Given the description of an element on the screen output the (x, y) to click on. 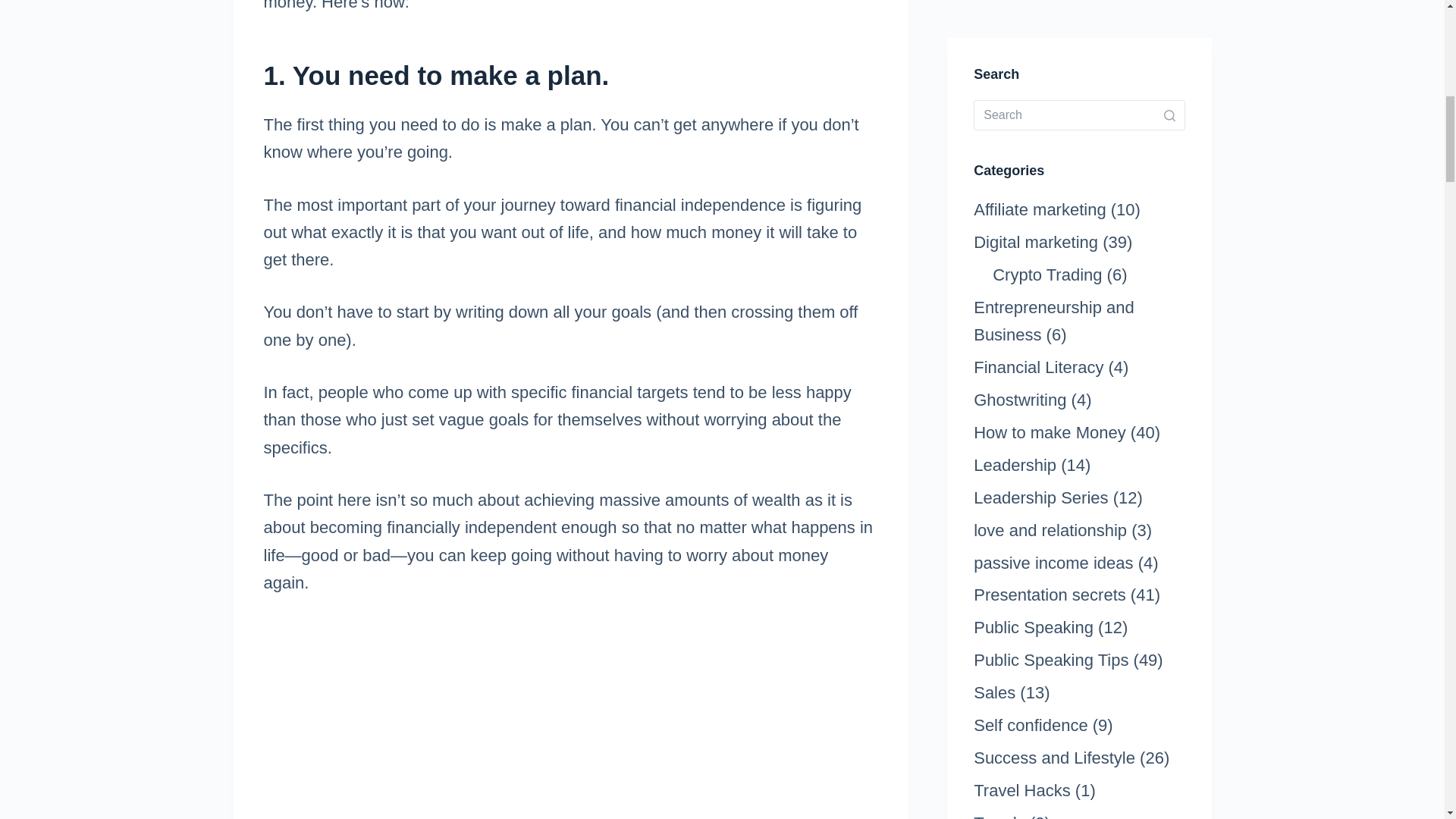
How to Make Money with Your Crafts (570, 720)
